Given the description of an element on the screen output the (x, y) to click on. 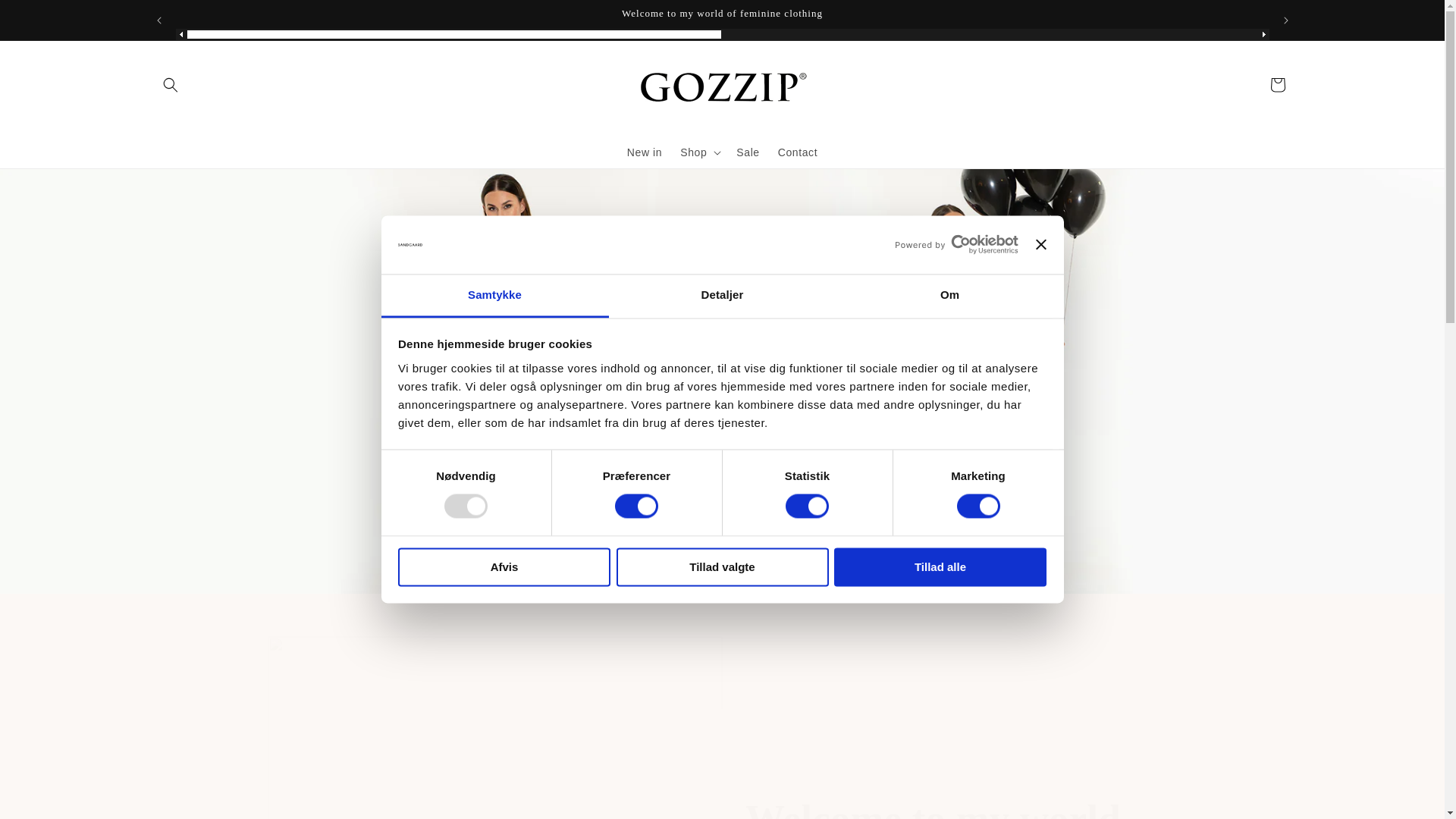
Om (948, 295)
Detaljer (721, 295)
Tillad alle (940, 566)
Samtykke (494, 295)
Afvis (503, 566)
Tillad valgte (721, 566)
